Given the description of an element on the screen output the (x, y) to click on. 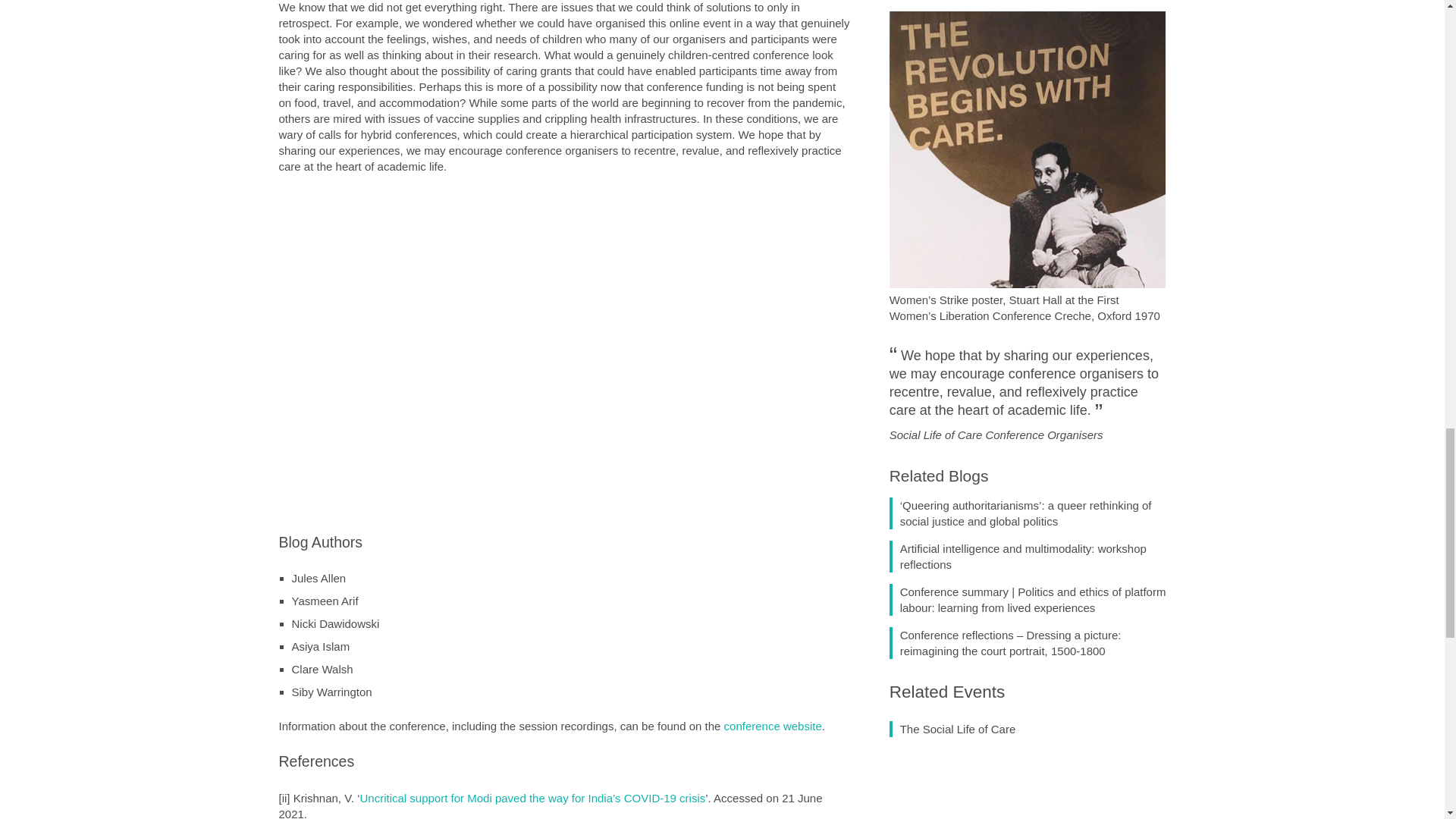
conference website (772, 725)
